Given the description of an element on the screen output the (x, y) to click on. 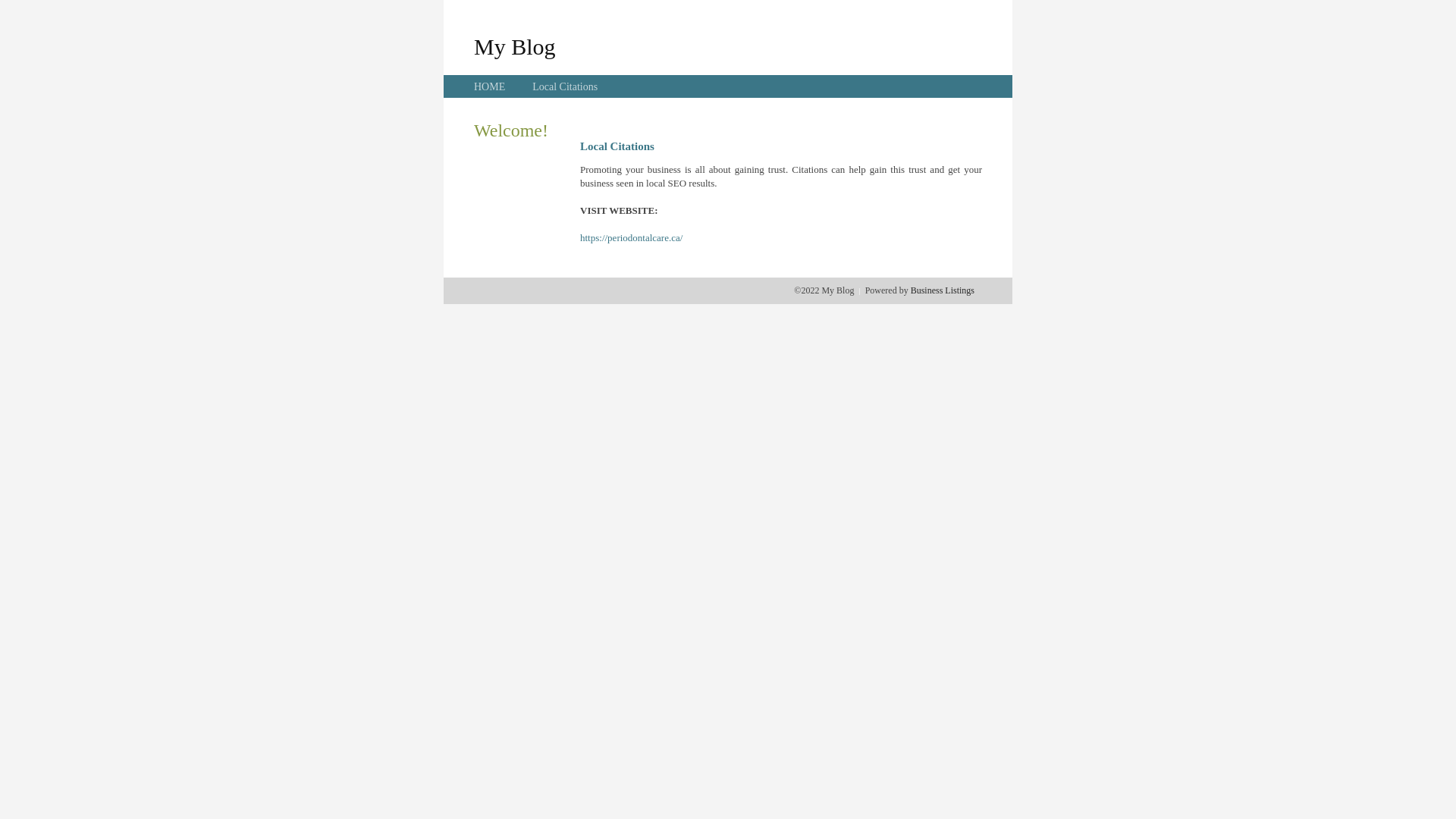
Local Citations Element type: text (564, 86)
https://periodontalcare.ca/ Element type: text (631, 237)
HOME Element type: text (489, 86)
My Blog Element type: text (514, 46)
Business Listings Element type: text (942, 290)
